Given the description of an element on the screen output the (x, y) to click on. 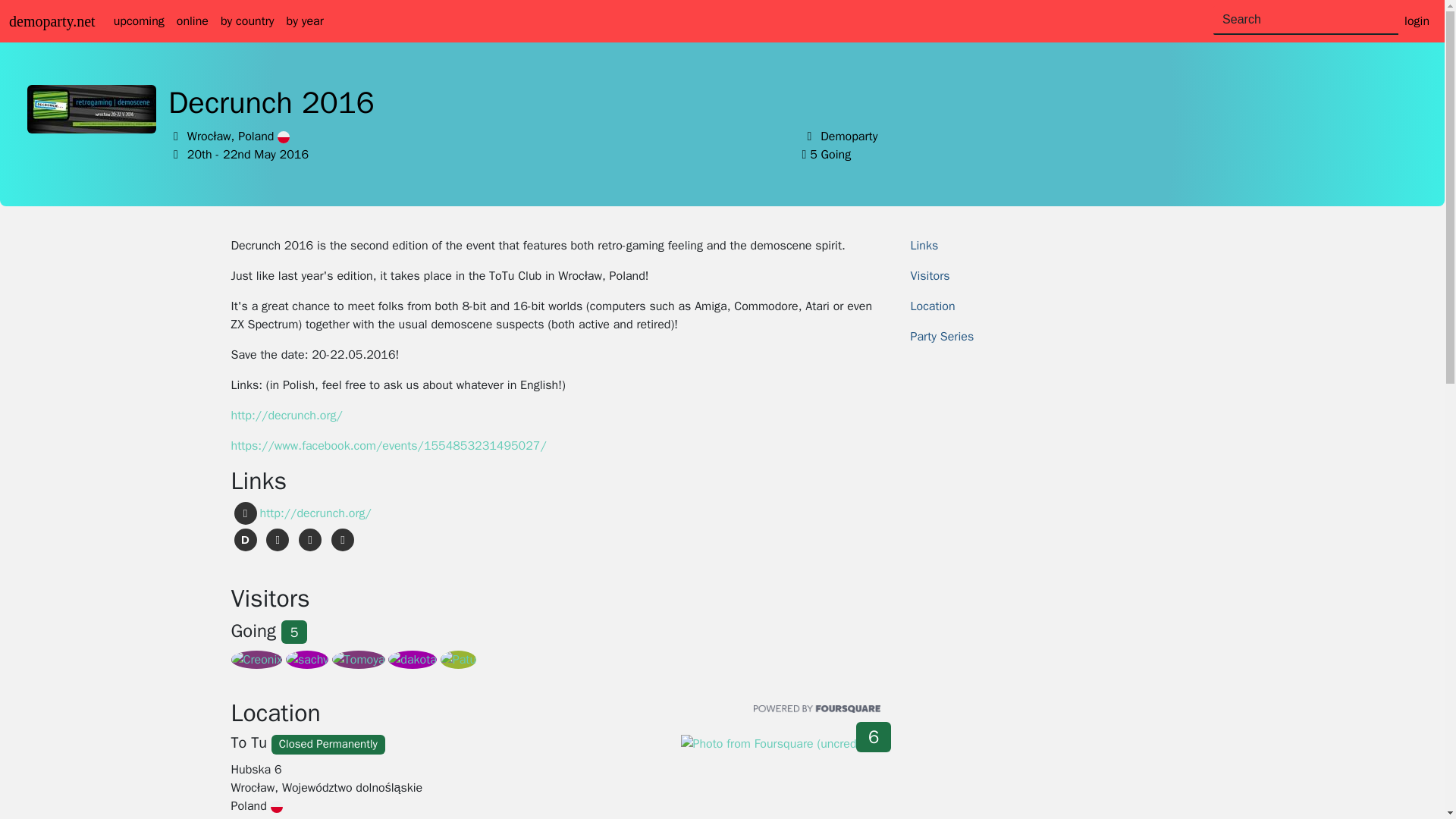
online (192, 20)
Demozoo (244, 539)
Poland (283, 137)
sachy (307, 659)
5 Going (829, 154)
Tomoya (358, 659)
Creonix (256, 659)
by country (247, 20)
20th - 22nd May 2016 (247, 154)
Poland (276, 806)
